Given the description of an element on the screen output the (x, y) to click on. 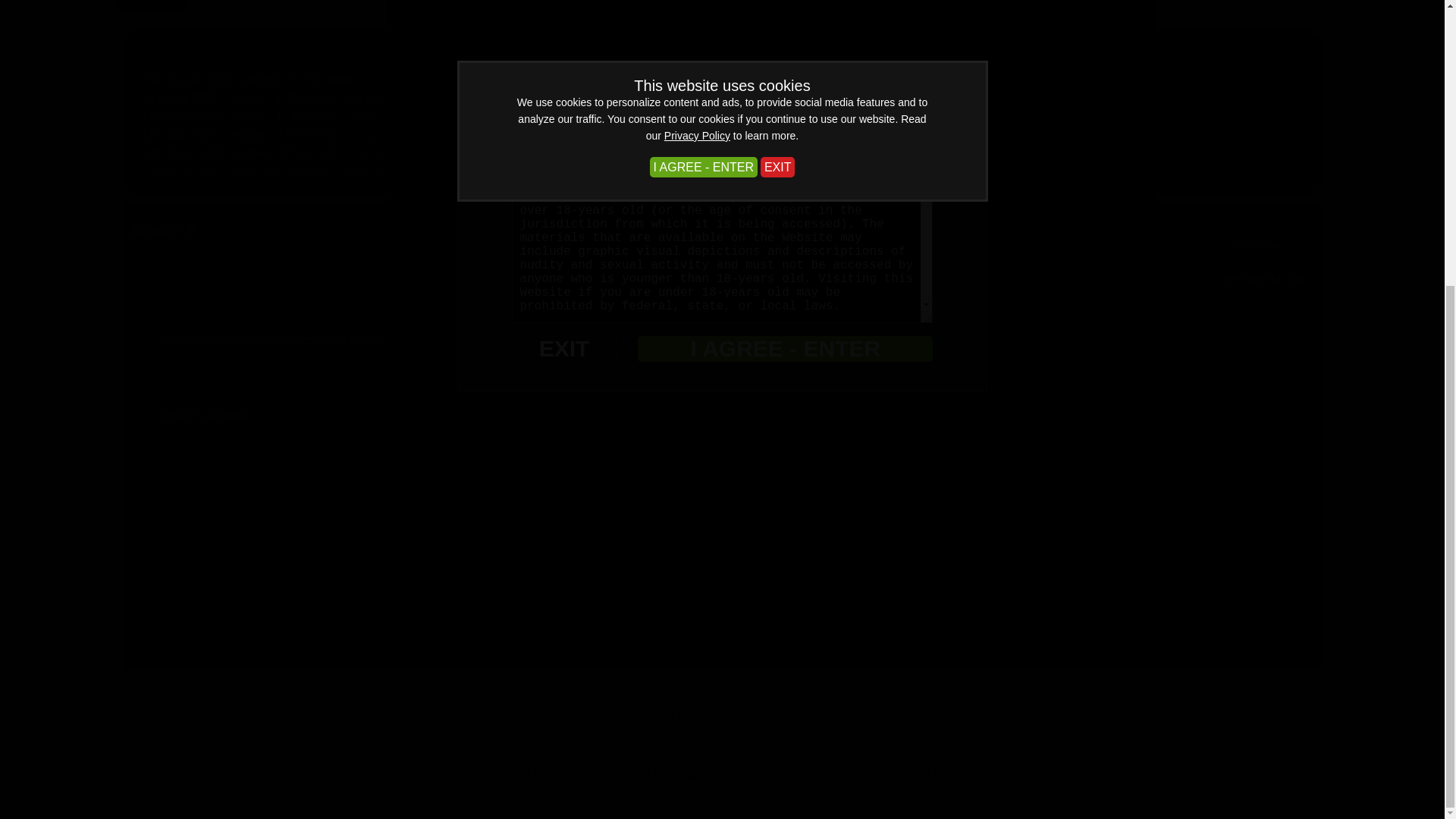
Customs Available (975, 79)
Siobhan Graves in Secretary Outfit Indulgence - VID (211, 451)
Private Customs shoots are available to non-members (904, 115)
Store (604, 6)
Categories (319, 6)
Custom Shoots (509, 6)
Models (408, 6)
Sophie B (163, 229)
Home (150, 6)
Updates (228, 6)
